Given the description of an element on the screen output the (x, y) to click on. 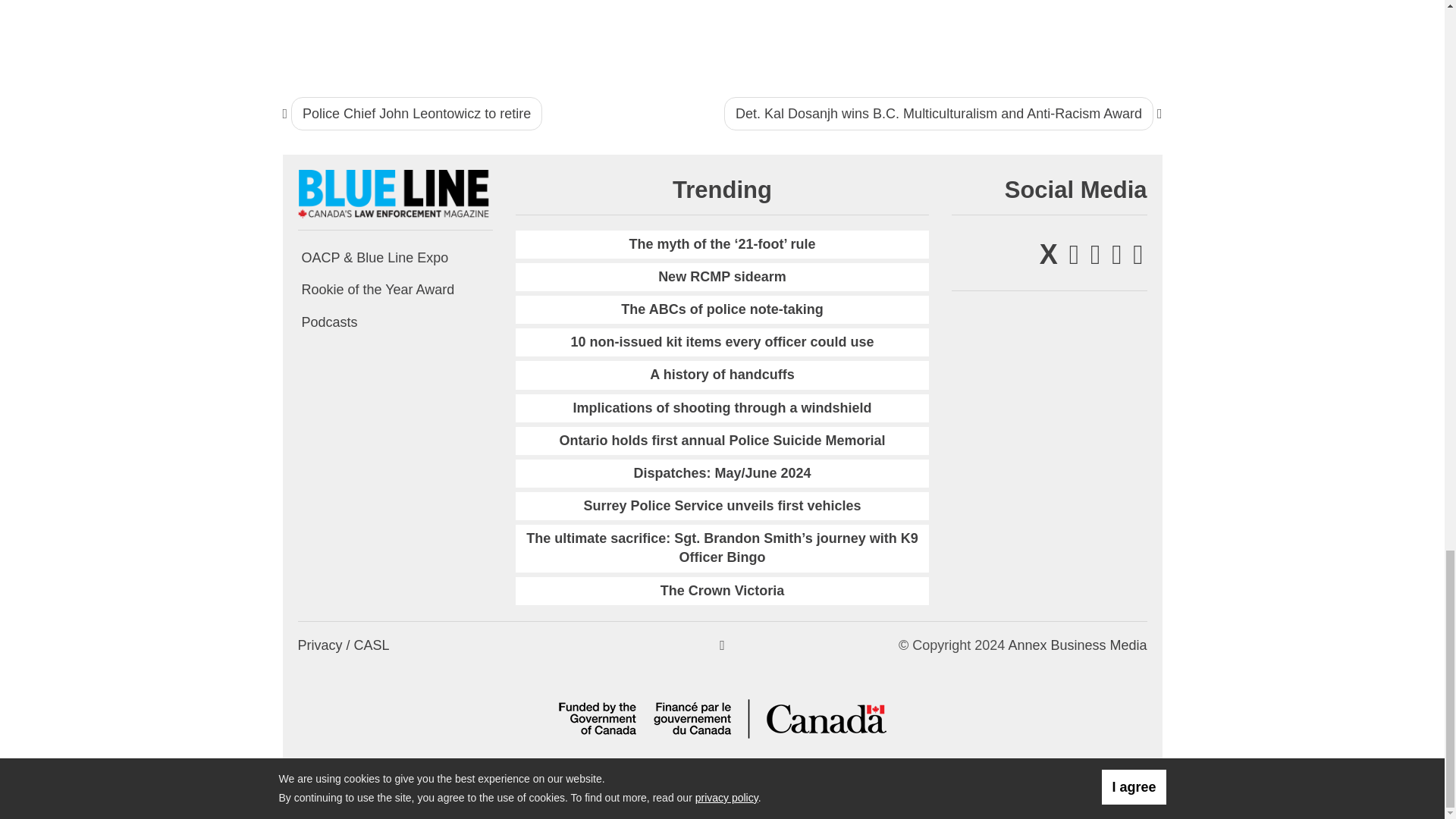
Annex Business Media (1077, 645)
3rd party ad content (1060, 32)
Blue Line (395, 192)
